Given the description of an element on the screen output the (x, y) to click on. 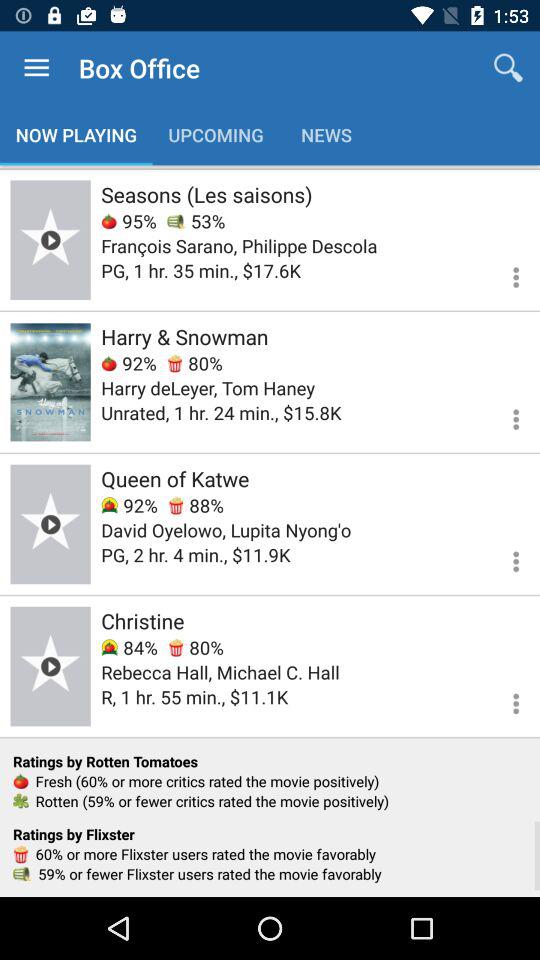
turn on the item next to the box office icon (508, 67)
